Given the description of an element on the screen output the (x, y) to click on. 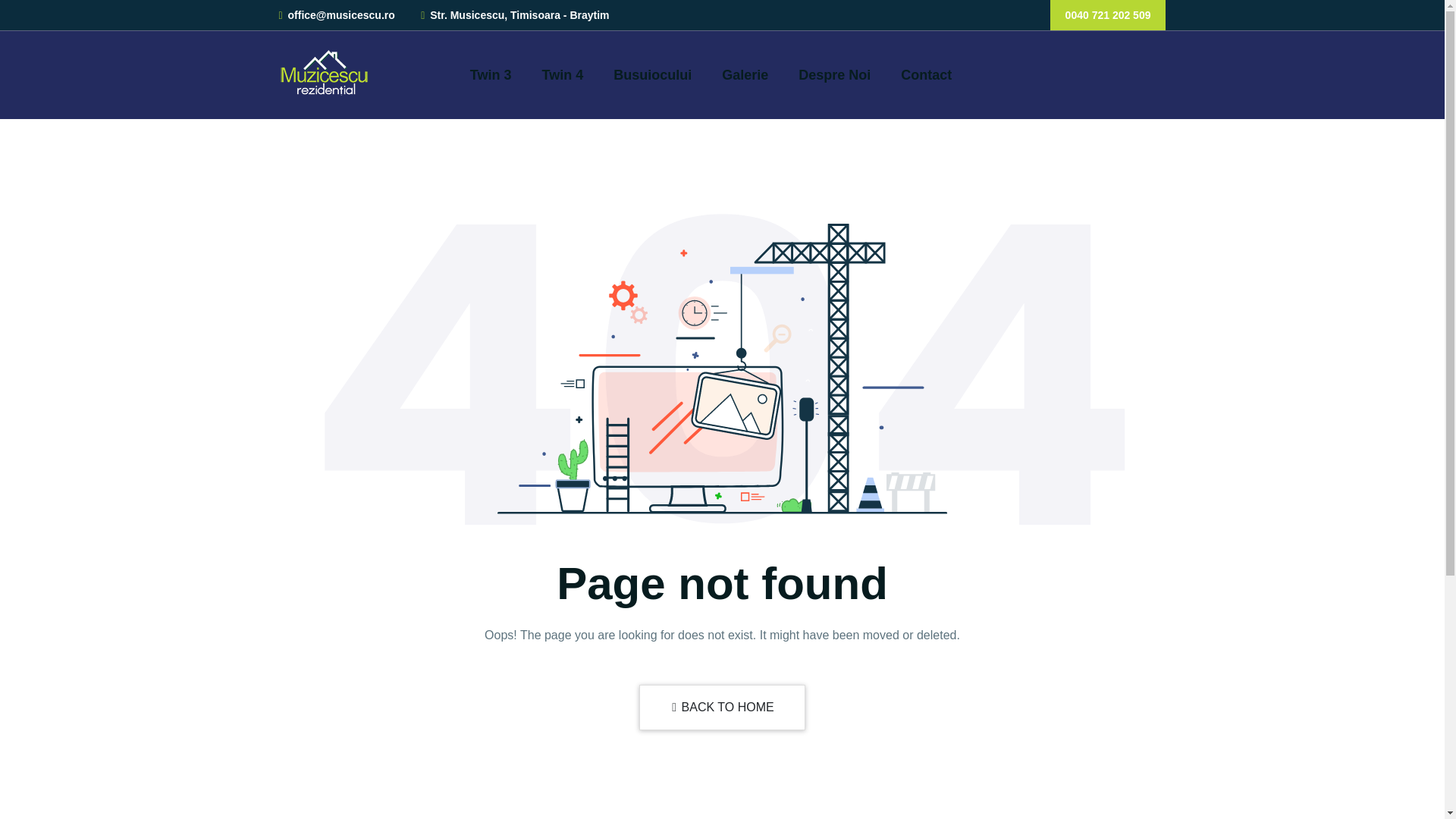
Twin 4 (562, 74)
Galerie (745, 74)
Despre Noi (833, 74)
Busuiocului (651, 74)
Contact (926, 74)
BACK TO HOME (722, 707)
0040 721 202 509 (1107, 15)
Twin 3 (491, 74)
